Given the description of an element on the screen output the (x, y) to click on. 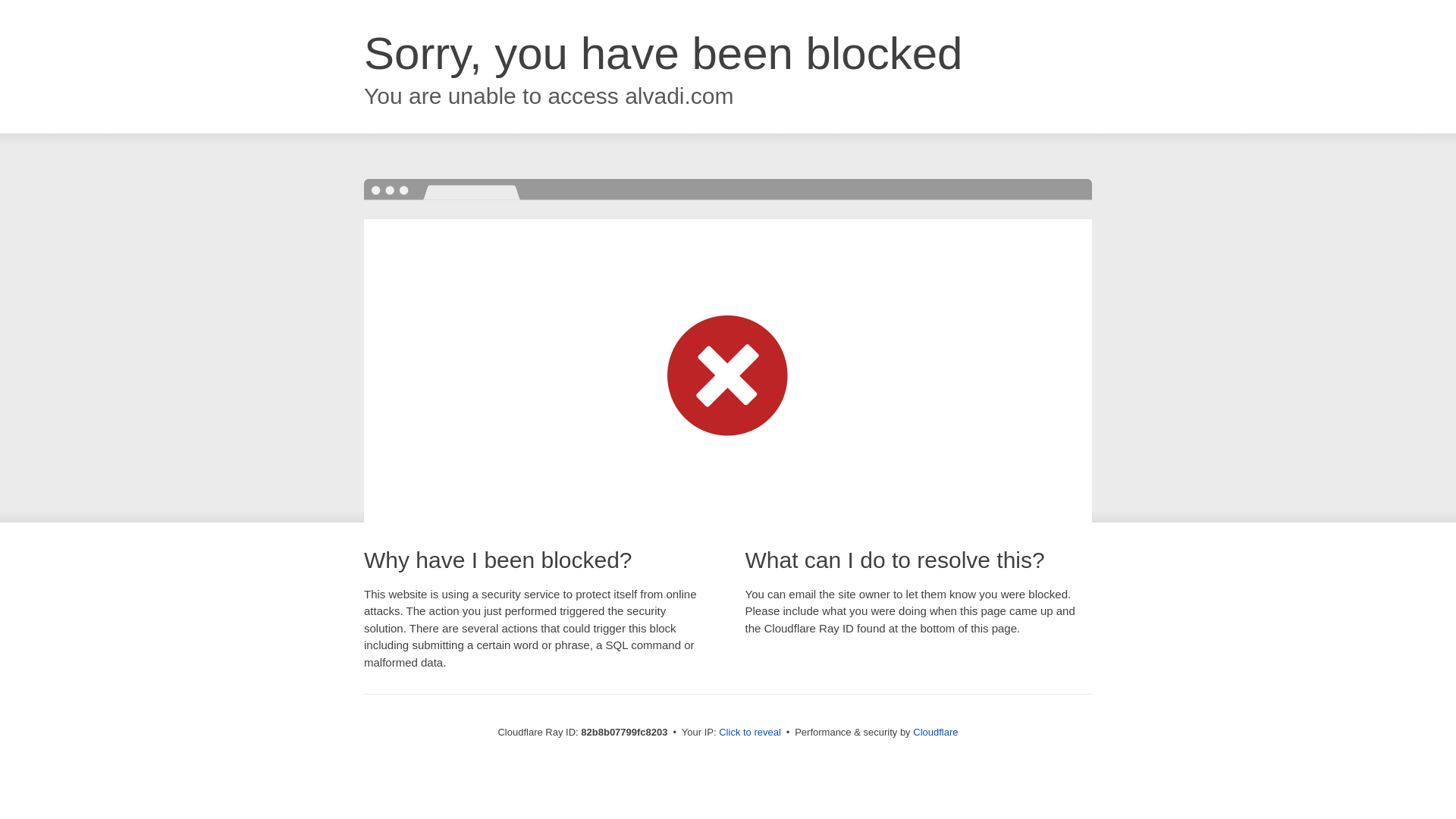
Click to reveal Element type: text (749, 732)
Cloudflare Element type: text (935, 731)
